Given the description of an element on the screen output the (x, y) to click on. 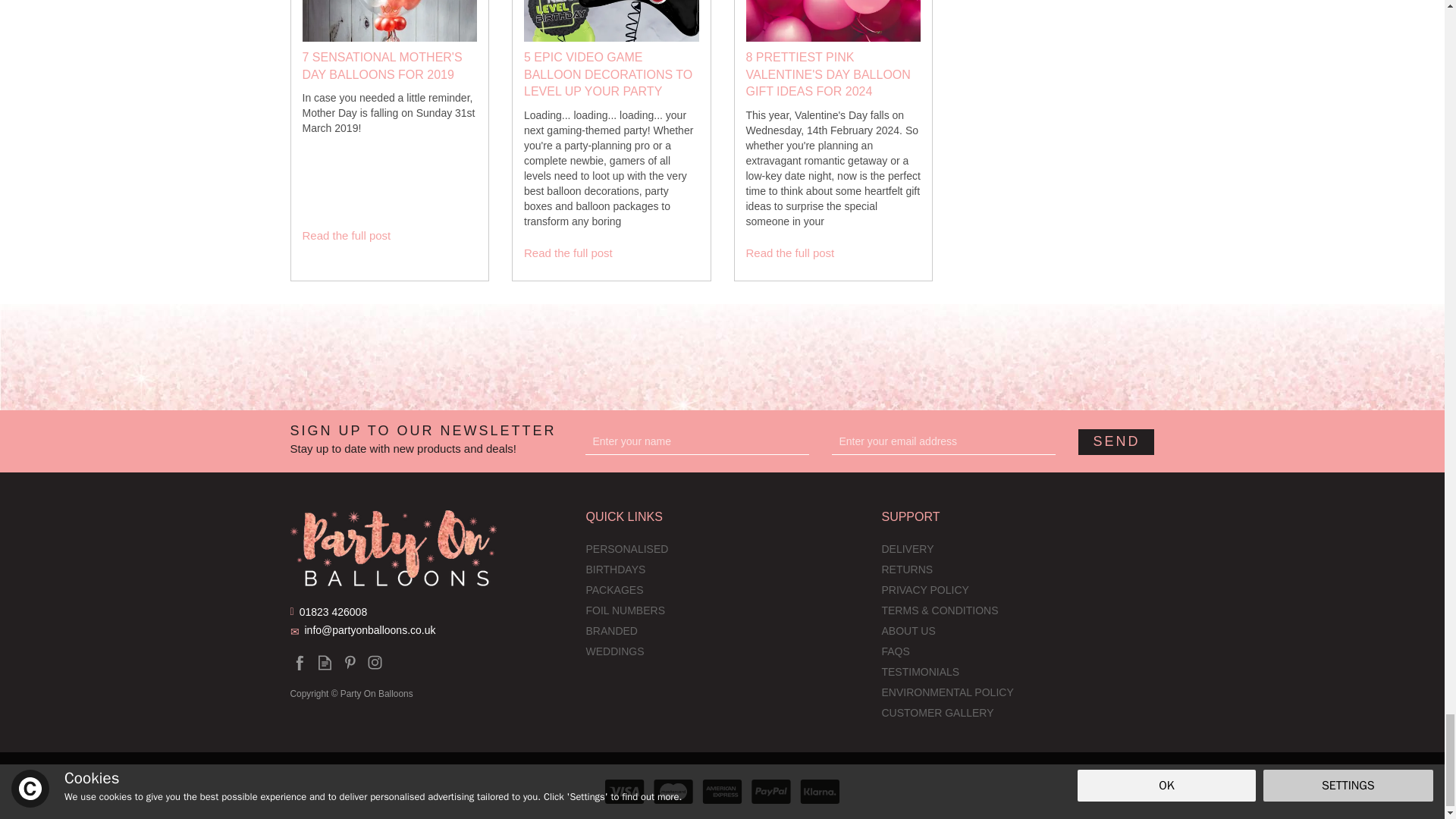
SEND (1116, 442)
Birthdays (722, 570)
Foil Numbers (722, 611)
Personalised (722, 549)
Packages (722, 590)
Weddings (722, 652)
Branded (722, 631)
